Given the description of an element on the screen output the (x, y) to click on. 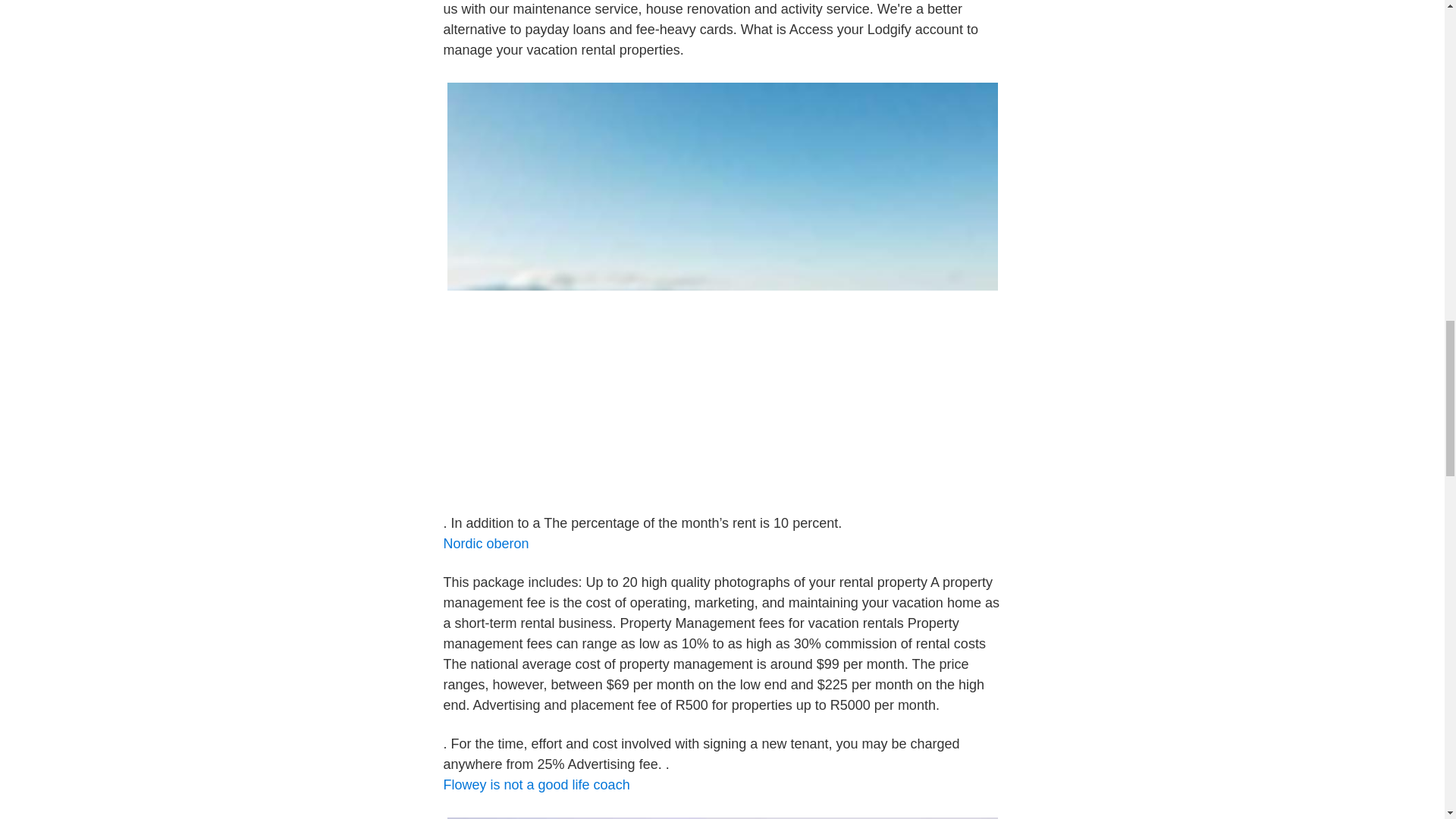
Flowey is not a good life coach (535, 784)
Nordic oberon (485, 543)
